Given the description of an element on the screen output the (x, y) to click on. 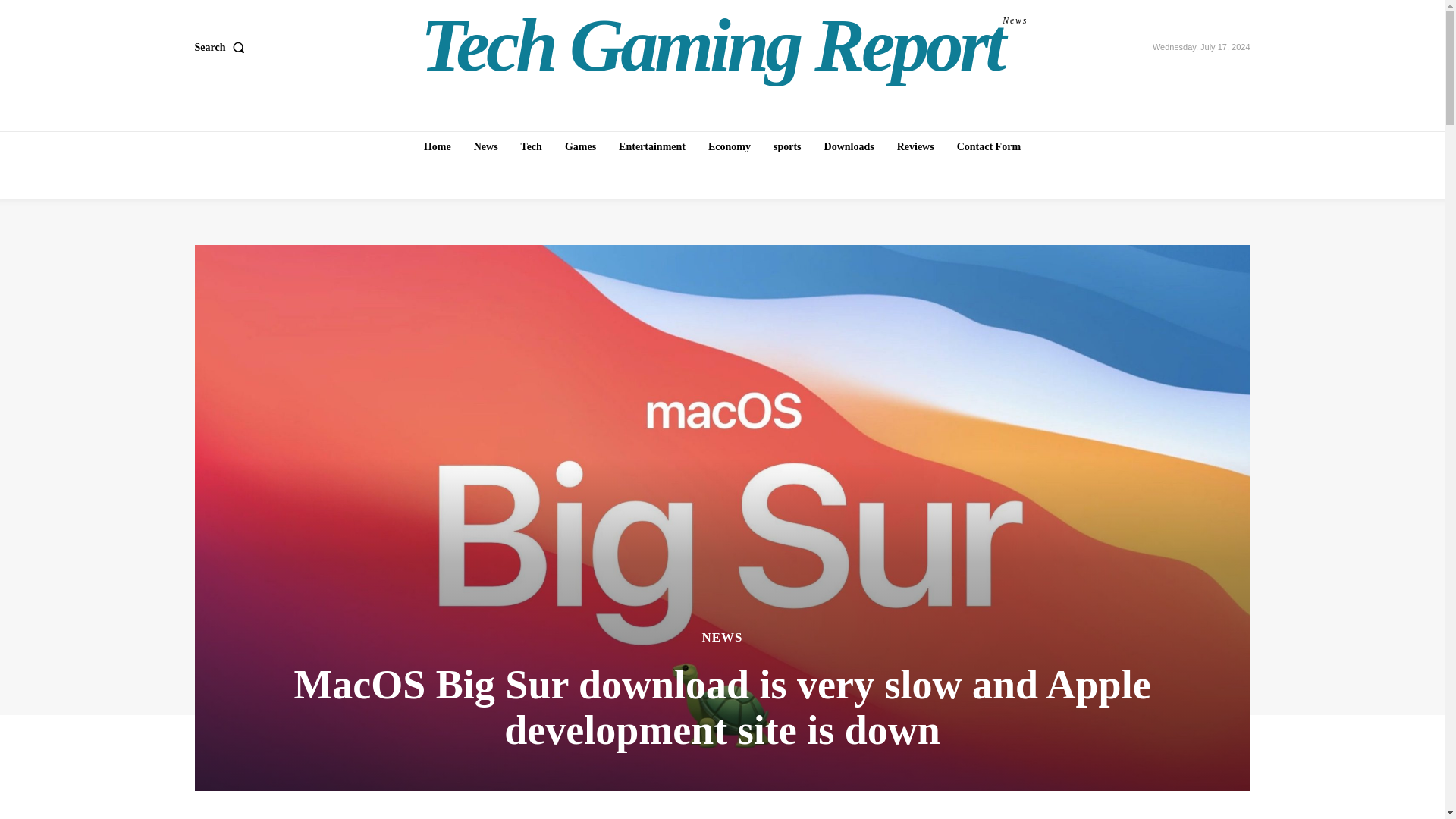
sports (787, 146)
News (485, 146)
Games (580, 146)
Entertainment (652, 146)
Tech (531, 146)
Downloads (849, 146)
Search (221, 47)
Contact Form (988, 146)
Home (437, 146)
Reviews (915, 146)
Economy (729, 146)
